Given the description of an element on the screen output the (x, y) to click on. 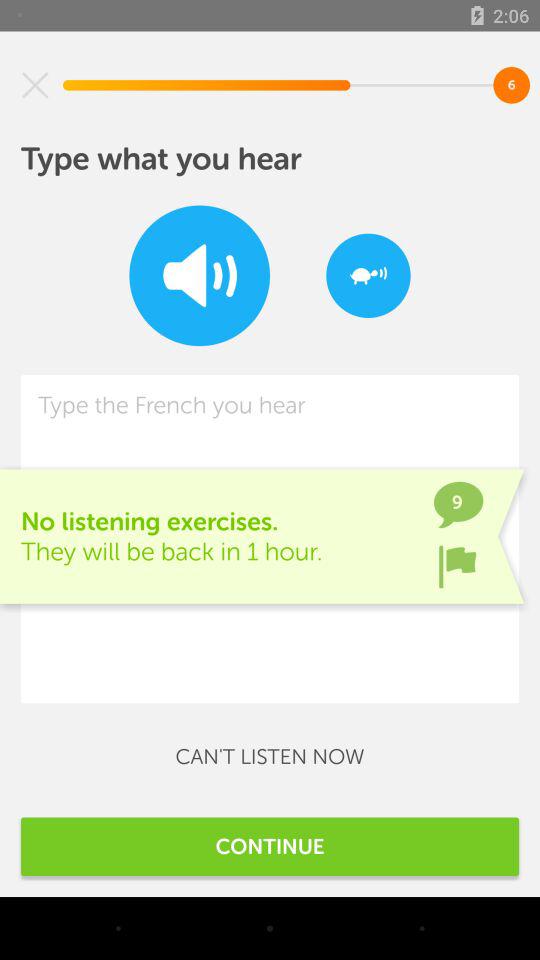
press the item to the right of the no listening exercises item (457, 566)
